Given the description of an element on the screen output the (x, y) to click on. 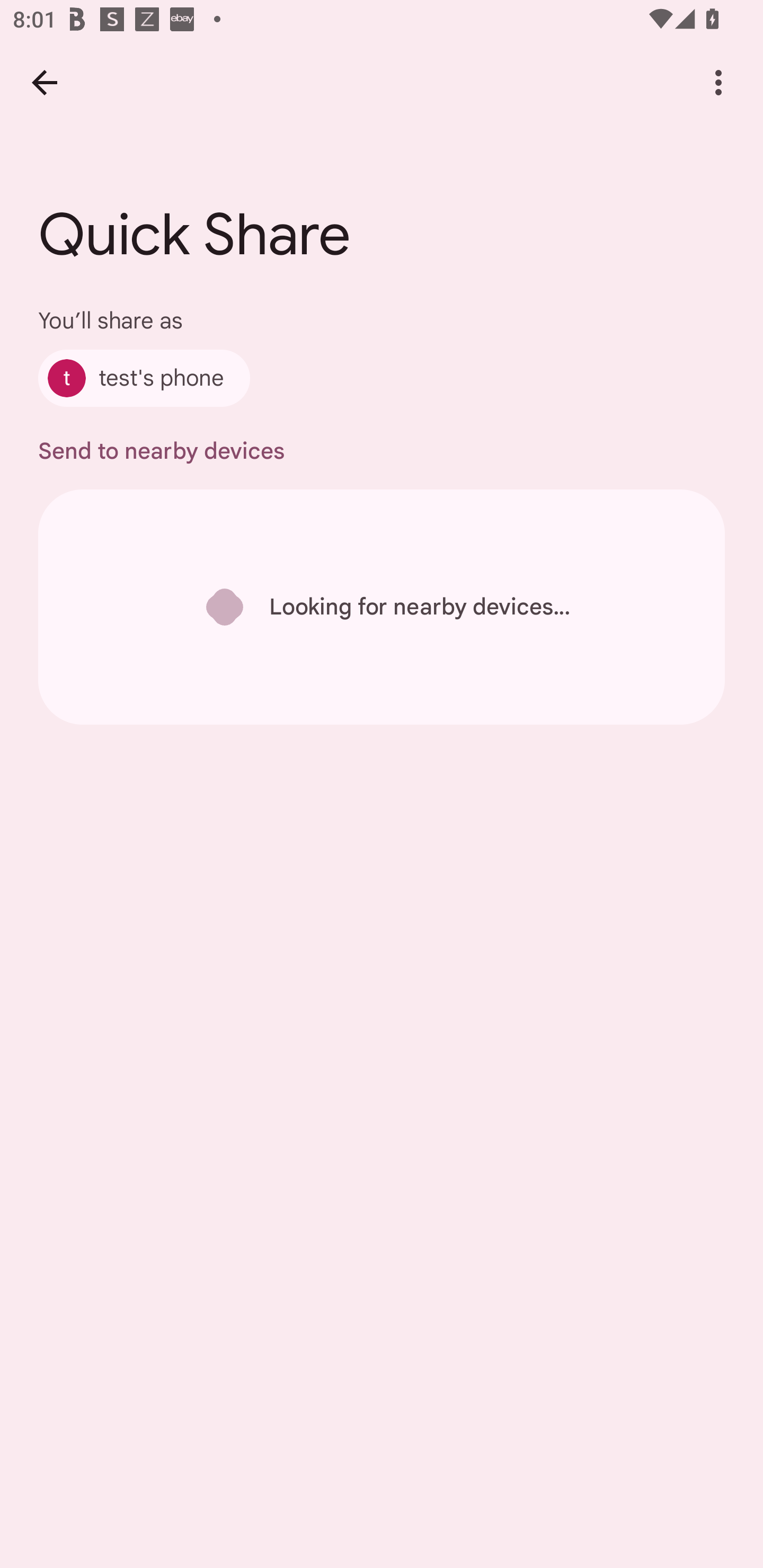
Back (44, 81)
More (718, 81)
test's phone (144, 378)
